Given the description of an element on the screen output the (x, y) to click on. 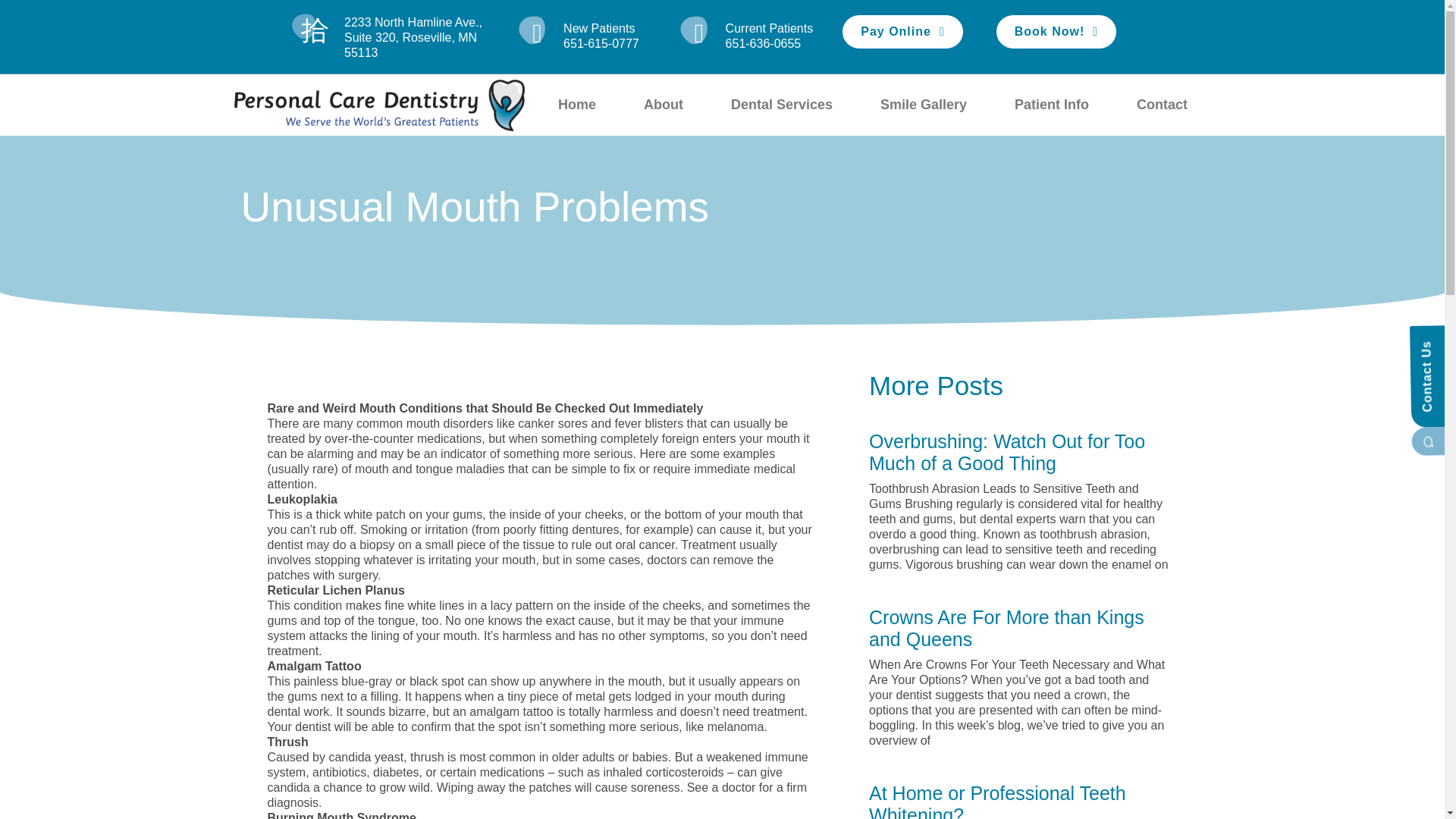
Home (577, 104)
Dental Services (781, 104)
2233 North Hamline Ave., Suite 320, Roseville, MN 55113 (399, 37)
Book Now! (1055, 31)
Pay Online (902, 31)
New Patients (598, 28)
About (663, 104)
Current Patients (769, 28)
